Given the description of an element on the screen output the (x, y) to click on. 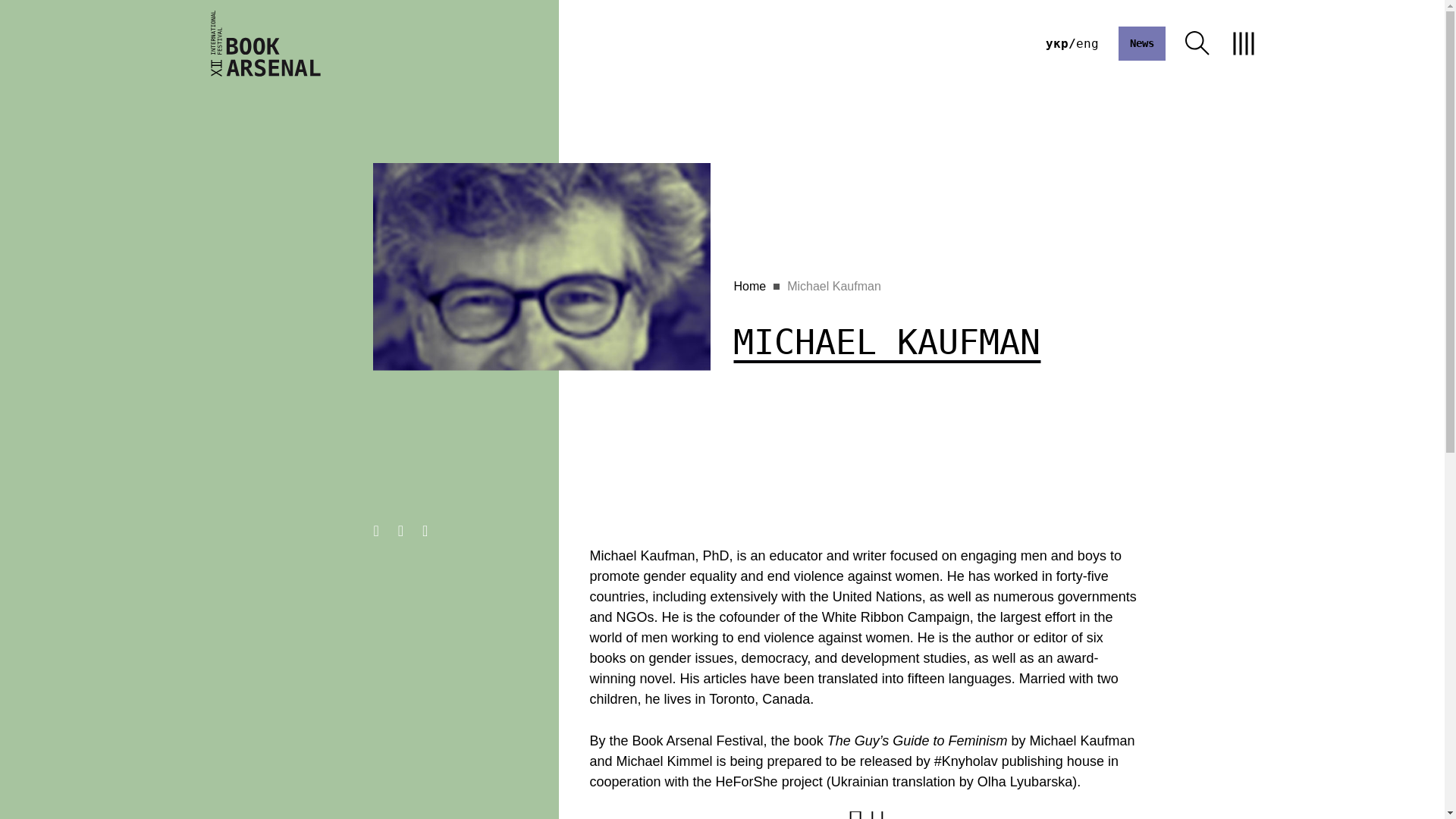
go to home page (264, 43)
News (1141, 43)
eng (1086, 43)
